Given the description of an element on the screen output the (x, y) to click on. 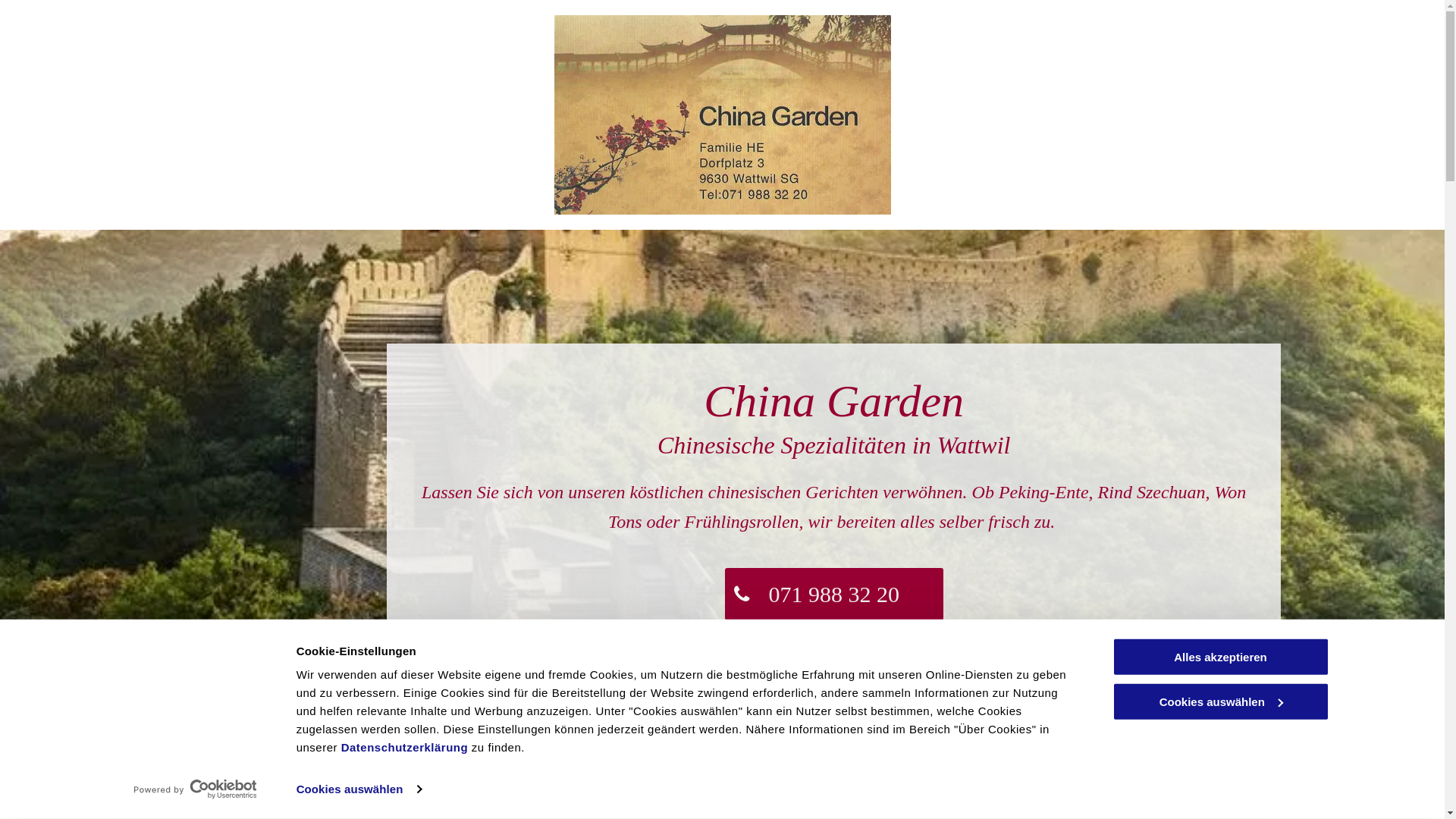
071 988 32 20 Element type: text (833, 593)
Alles akzeptieren Element type: text (1219, 656)
